Given the description of an element on the screen output the (x, y) to click on. 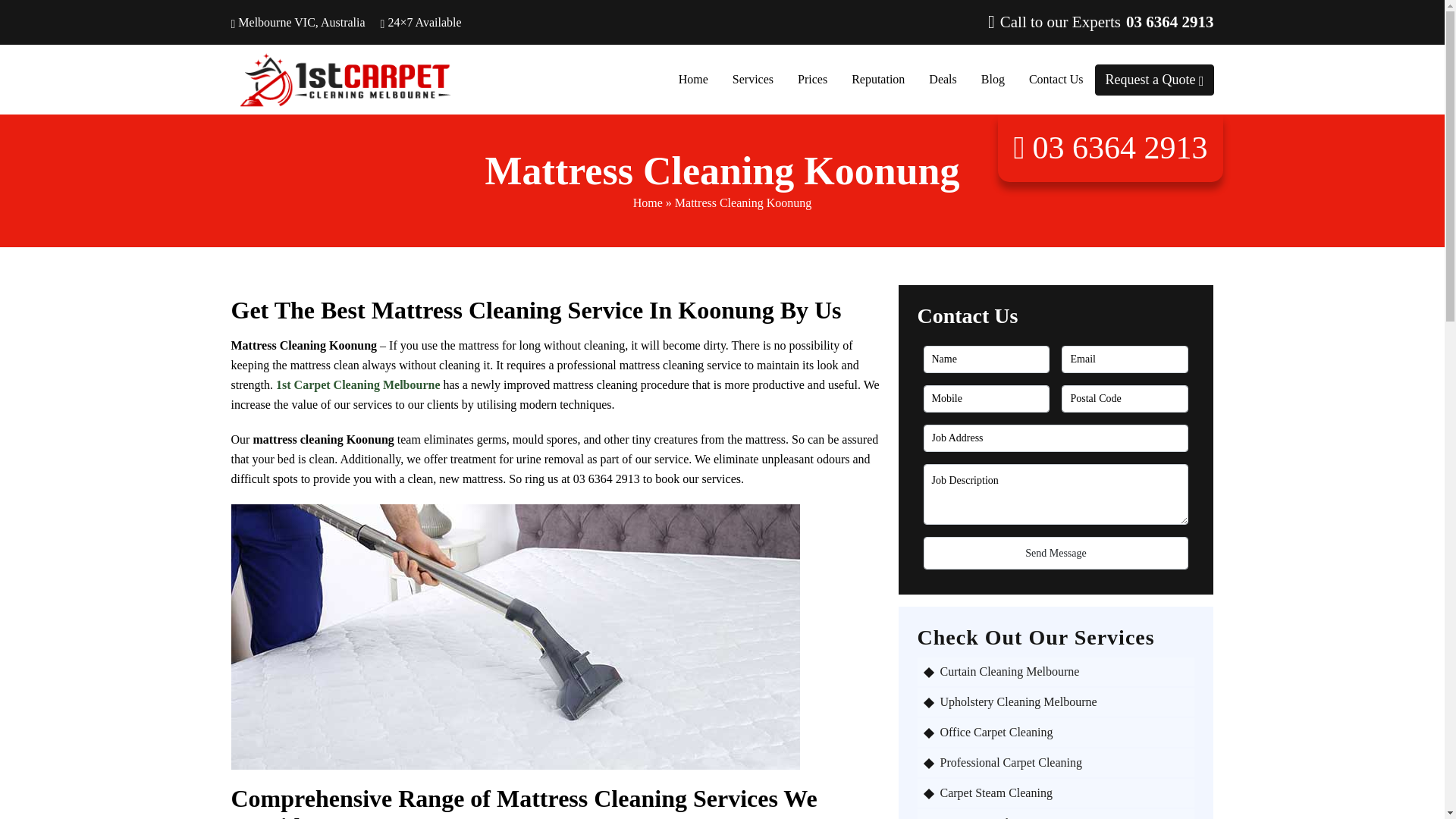
Upholstery Cleaning Melbourne (1064, 702)
Send Message (1056, 553)
Call to our Experts03 6364 2913 (1104, 22)
Send Message (1056, 553)
Carpet Steam Cleaning (1064, 793)
Deals (942, 79)
Home (692, 79)
Curtain Cleaning Melbourne (1064, 671)
1st Carpet Cleaning Melbourne (357, 384)
Prices (812, 79)
Professional Carpet Cleaning (1064, 762)
Reputation (877, 79)
Services (752, 79)
Home (647, 202)
